Given the description of an element on the screen output the (x, y) to click on. 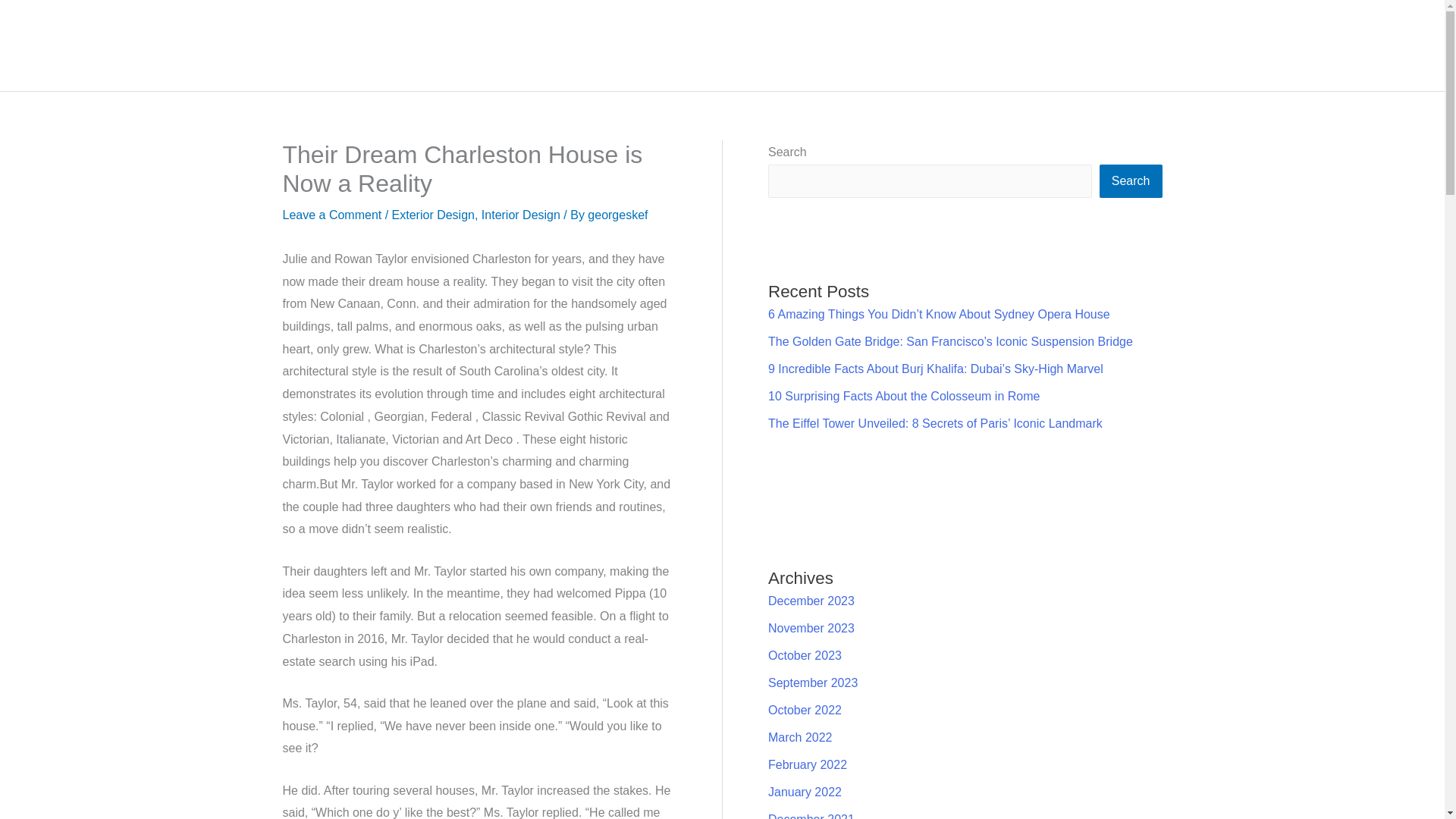
georgeskef (617, 214)
WELLNESS (1106, 45)
Interior Design (520, 214)
Search (1130, 181)
Exterior Design (432, 214)
WORK LIFE (1015, 45)
STYLE (1294, 45)
SOCIOECONOMICS (900, 45)
Leave a Comment (331, 214)
View all posts by georgeskef (617, 214)
TRAVELING (1371, 45)
Kids Next Door (108, 44)
